Given the description of an element on the screen output the (x, y) to click on. 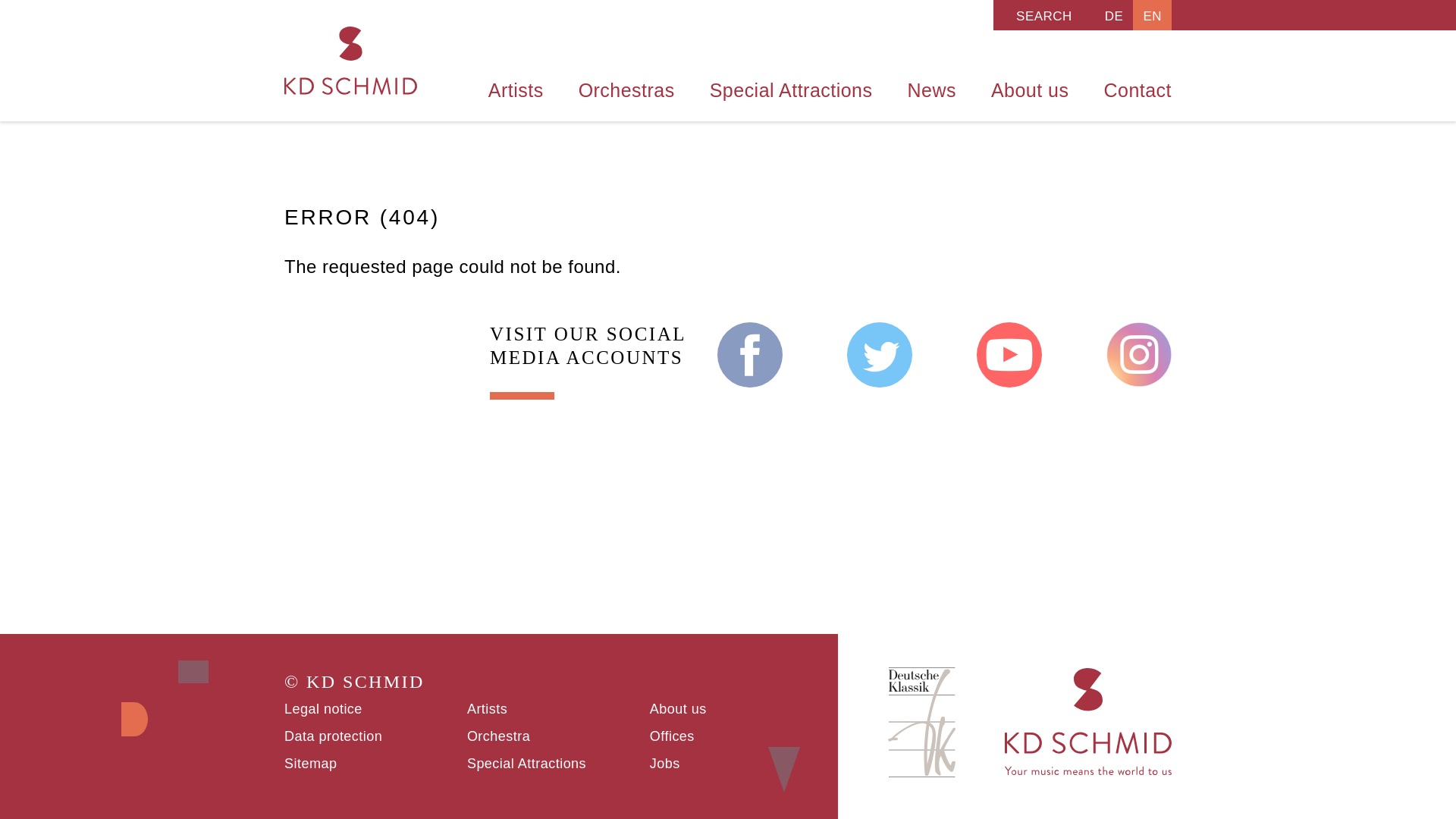
Special Attractions (791, 86)
About us (1030, 86)
KD Schmid Your music means the world to us (349, 60)
Orchestra (498, 736)
Data protection (332, 736)
Legal notice (322, 708)
Twitter (879, 354)
Special Attractions (526, 763)
Orchestras (626, 86)
The current page is already displayed in English (1152, 15)
Offices (671, 736)
Contact (1129, 86)
Artists (486, 708)
Facebook (750, 354)
Artists (515, 86)
